Given the description of an element on the screen output the (x, y) to click on. 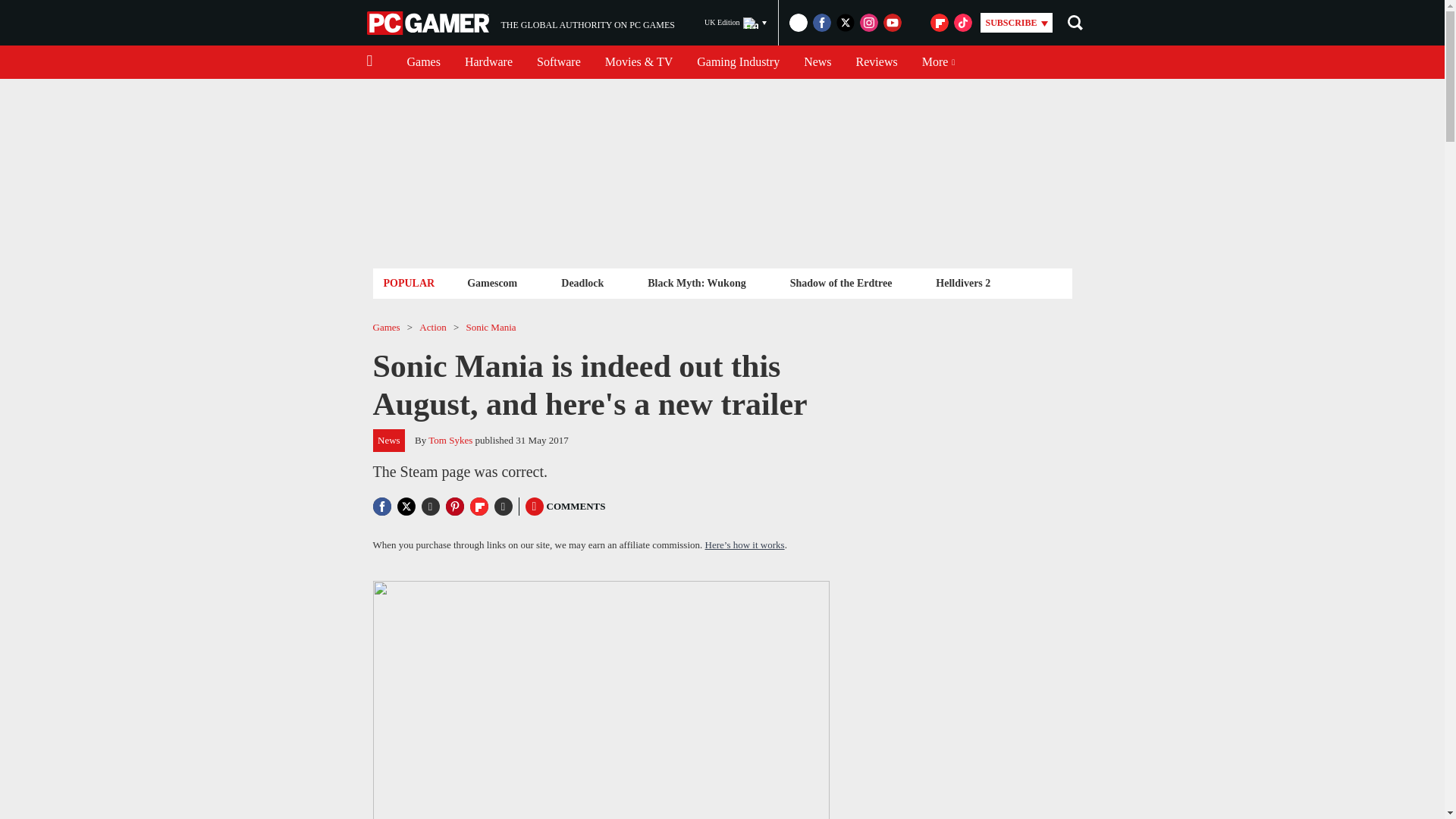
Software (558, 61)
Games (422, 61)
PC Gamer (429, 22)
News (520, 22)
Hardware (817, 61)
Reviews (488, 61)
Gaming Industry (877, 61)
Gamescom (738, 61)
Deadlock (491, 282)
